Given the description of an element on the screen output the (x, y) to click on. 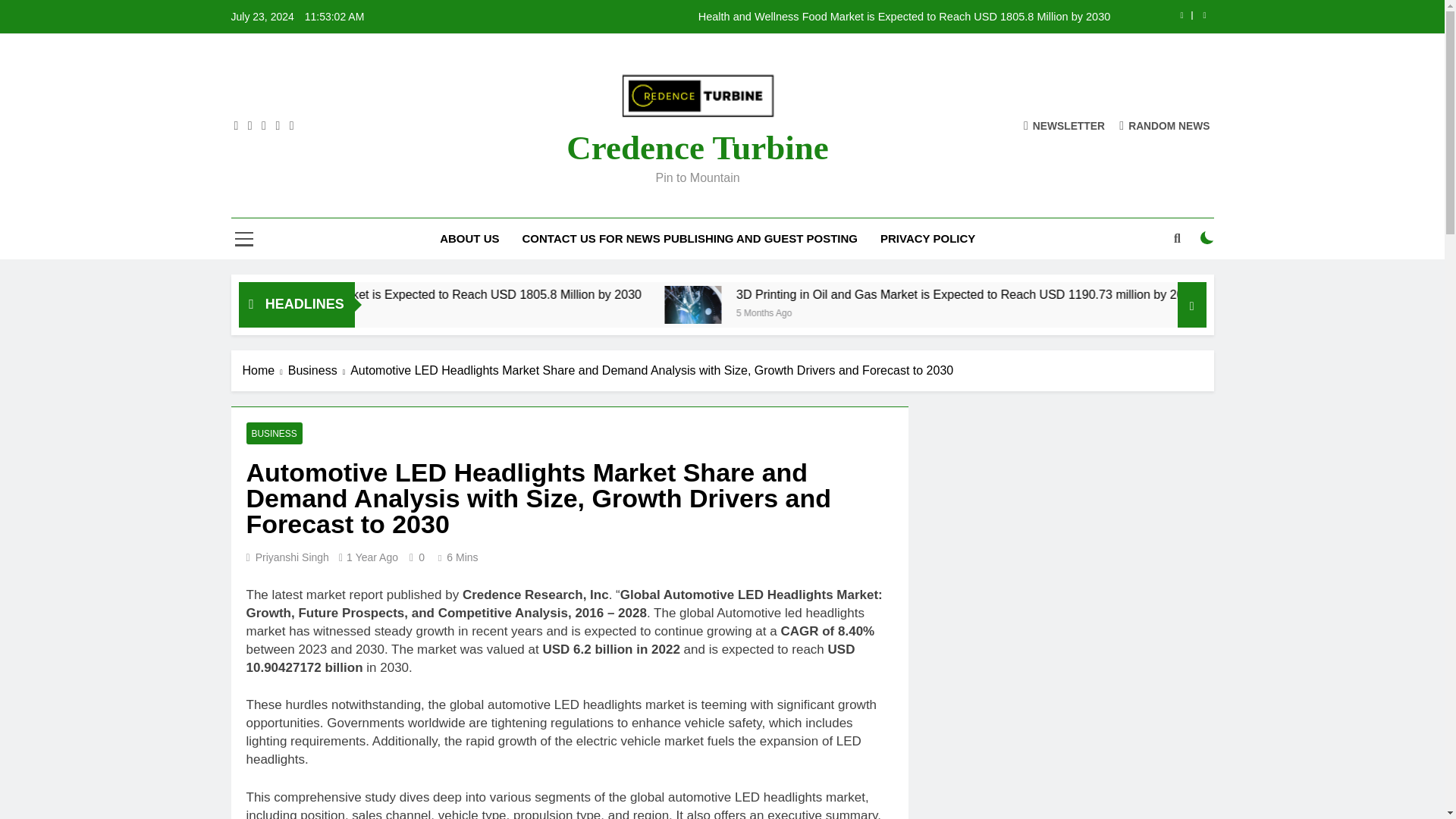
ABOUT US (469, 238)
5 Months Ago (957, 311)
RANDOM NEWS (1164, 124)
on (1206, 237)
Credence Turbine (697, 147)
PRIVACY POLICY (928, 238)
5 Months Ago (413, 311)
NEWSLETTER (1064, 124)
